Given the description of an element on the screen output the (x, y) to click on. 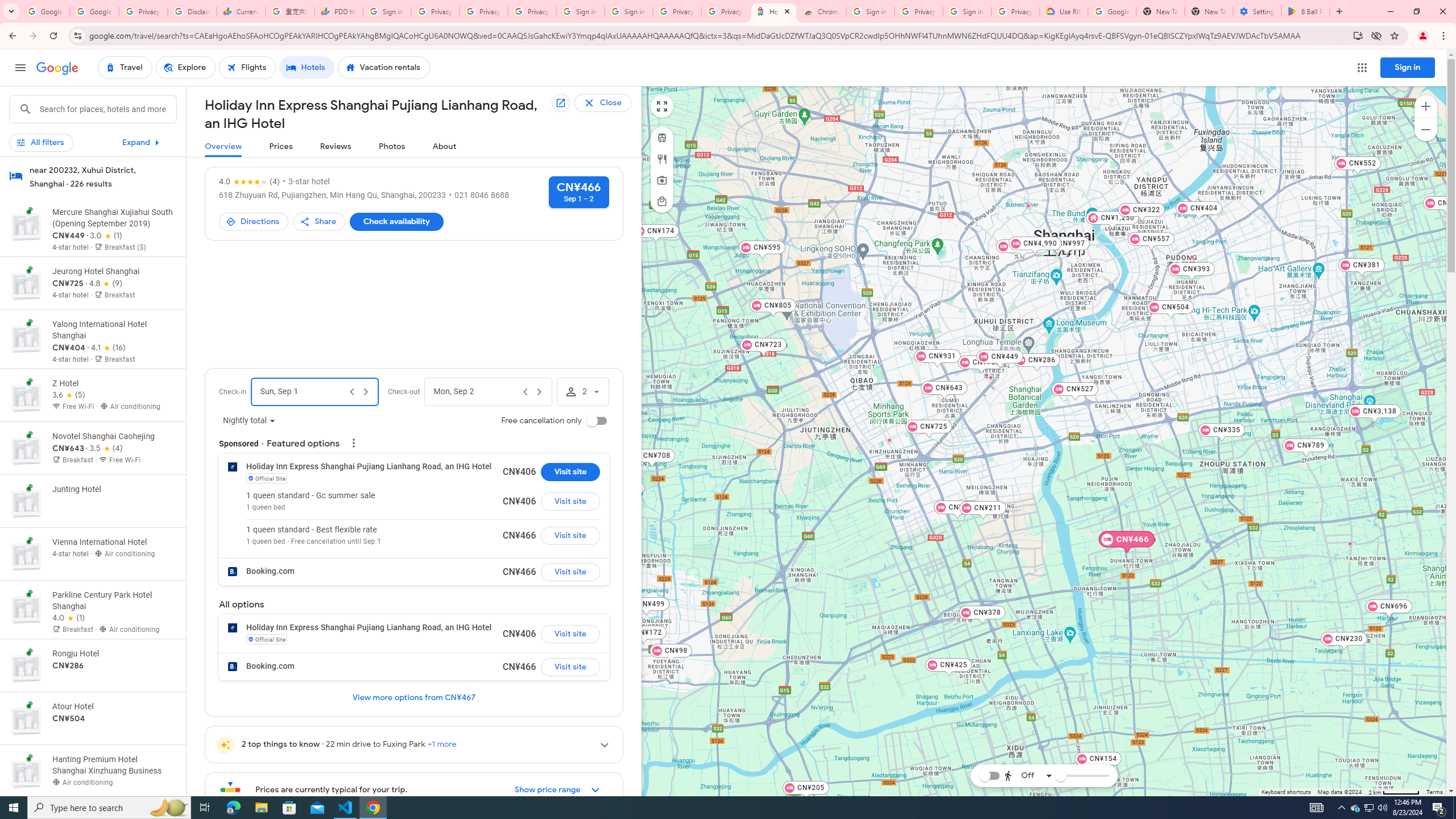
Venus International Hotel Shanghai South Shenjiang Road (1349, 543)
Check-in (302, 391)
Check-out (475, 391)
Number of travelers. Current number of travelers is 2. (582, 391)
View prices for Vienna International Hotel (113, 593)
Z Hotel (1076, 239)
Check availability (396, 221)
